Given the description of an element on the screen output the (x, y) to click on. 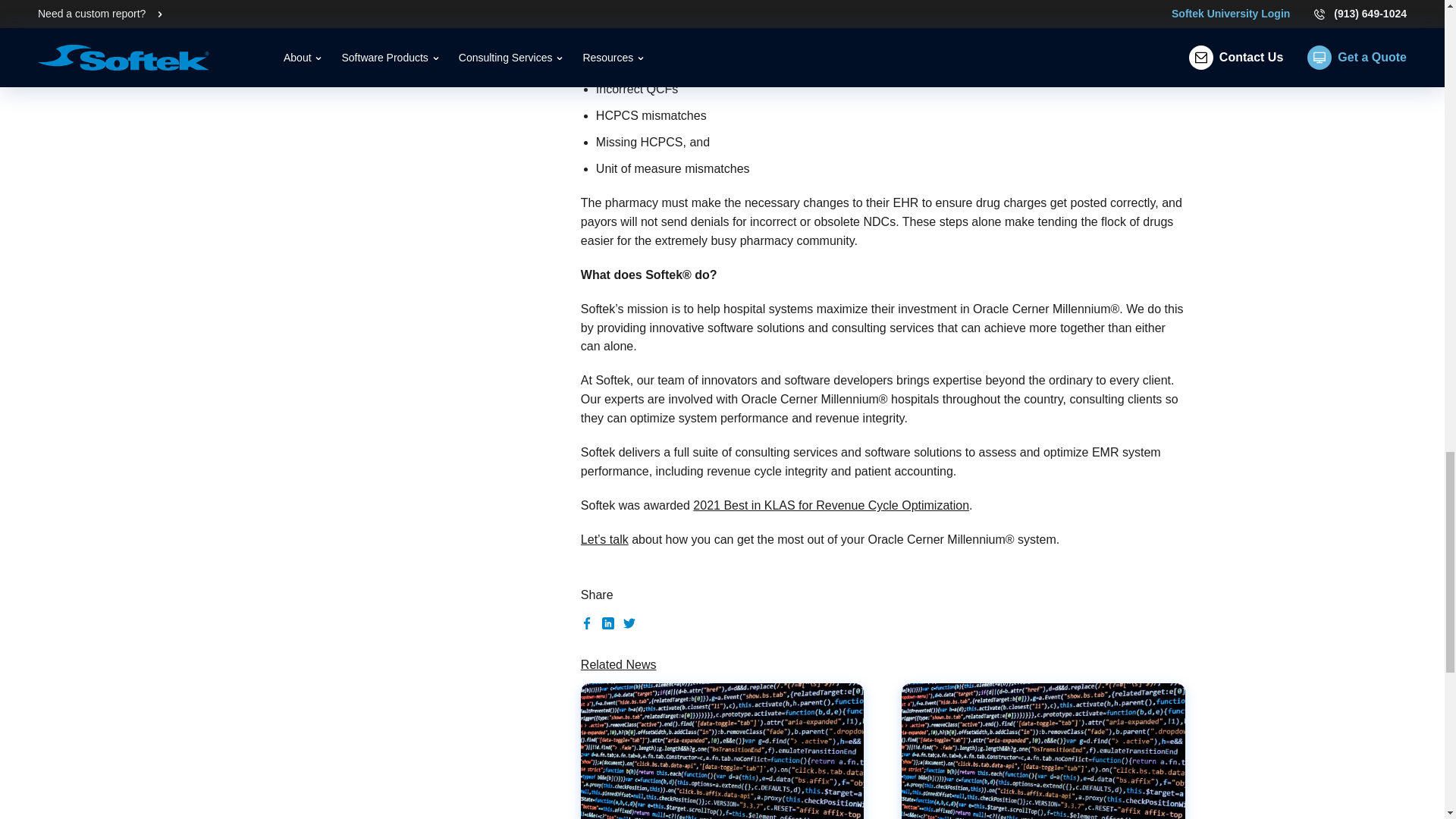
Read more about Chart Inconsistencies Create Confusion (721, 751)
Read more about Getting Systems to Play Nice (1043, 751)
